Given the description of an element on the screen output the (x, y) to click on. 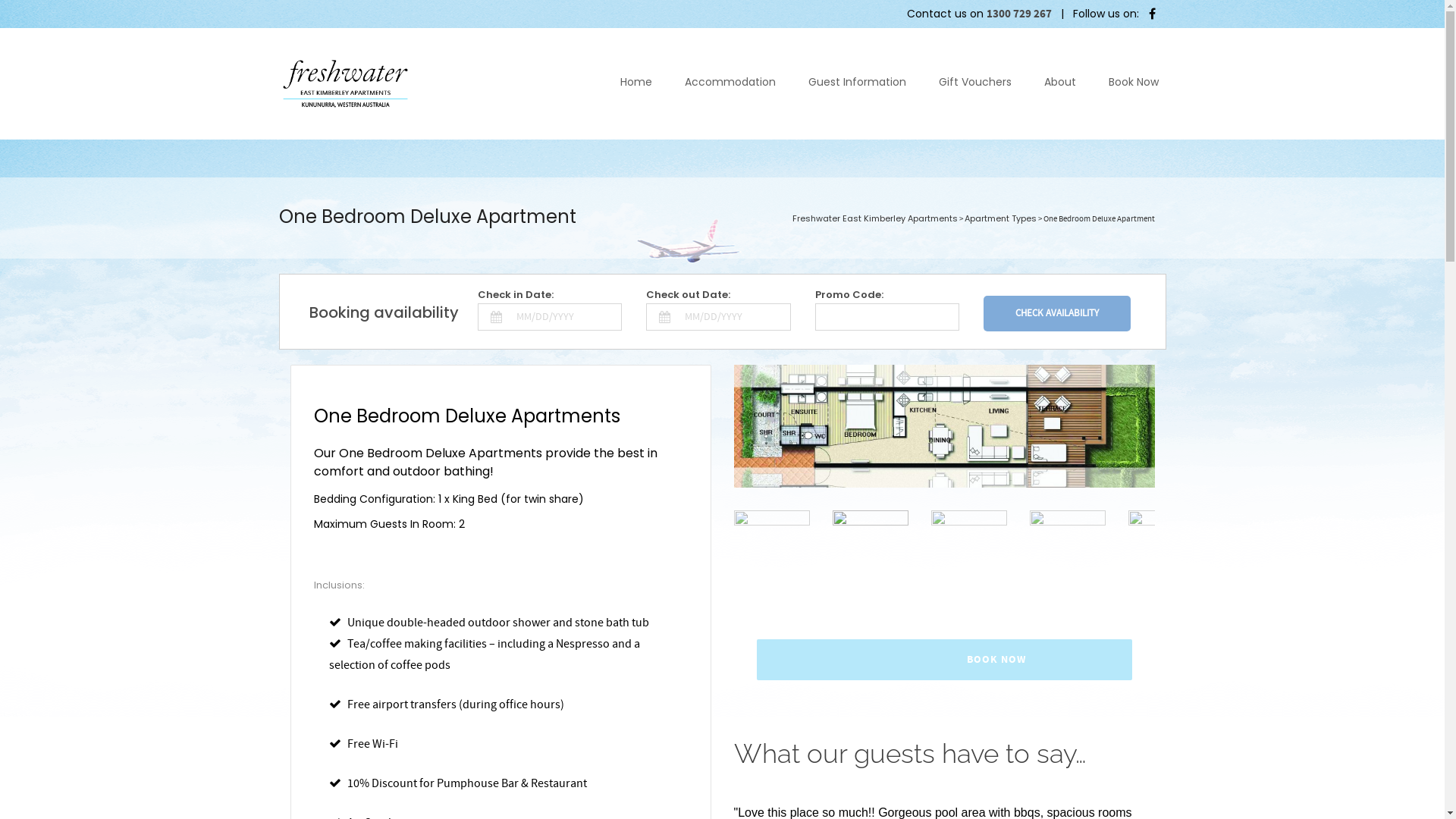
Gift Vouchers Element type: text (974, 85)
Guest Information Element type: text (857, 85)
Freshwater East Kimberley Apartments Element type: text (874, 218)
Apartment Types Element type: text (1000, 218)
                BOOK NOW Element type: text (944, 665)
1300 729 267 Element type: text (1018, 13)
Accommodation Element type: text (729, 85)
About Element type: text (1059, 85)
Check Availability Element type: text (1056, 313)
Home Element type: text (636, 85)
Book Now Element type: text (1133, 85)
